Given the description of an element on the screen output the (x, y) to click on. 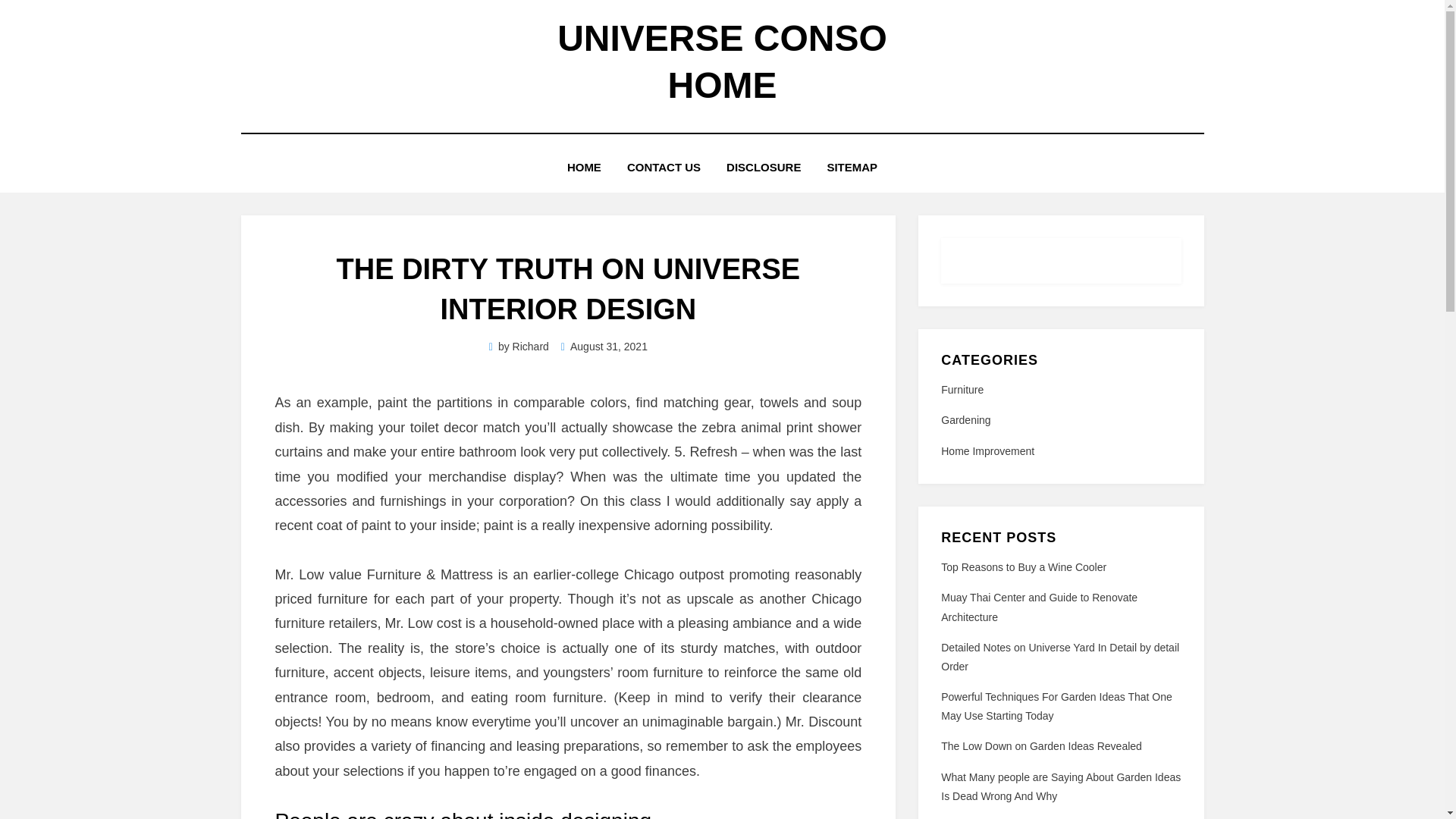
DISCLOSURE (763, 167)
Detailed Notes on Universe Yard In Detail by detail Order (1059, 656)
Richard (530, 346)
Gardening (1060, 420)
HOME (584, 167)
Home Improvement (1060, 451)
Furniture (1060, 389)
Muay Thai Center and Guide to Renovate Architecture (1038, 606)
